Given the description of an element on the screen output the (x, y) to click on. 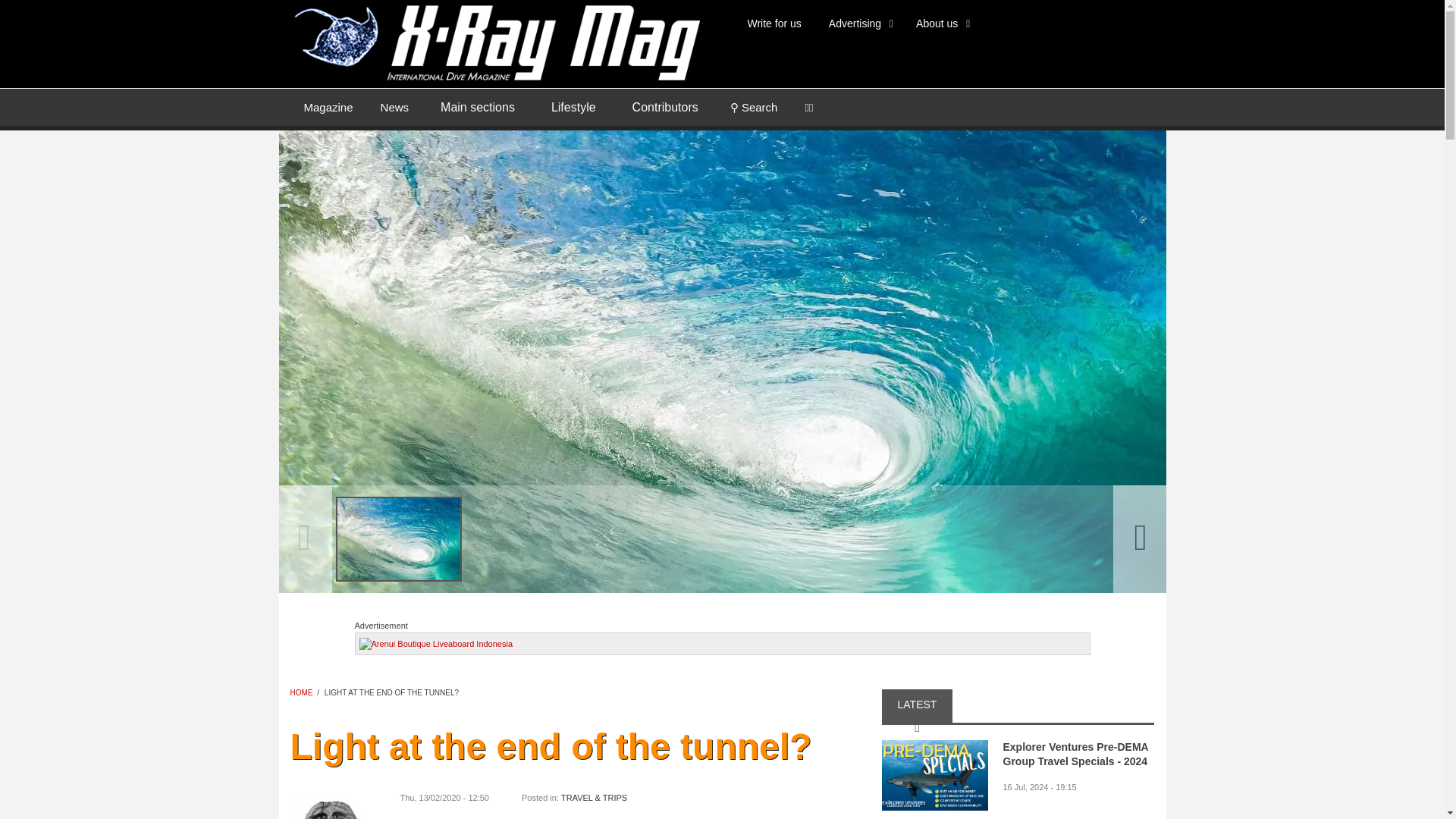
Write for us (774, 23)
Magazine (327, 106)
Advertising (858, 23)
About us (940, 23)
Main sections (477, 107)
News (394, 106)
Latest posts (394, 106)
Back issues (327, 106)
Advertising and promotions (858, 23)
Home (493, 41)
